Given the description of an element on the screen output the (x, y) to click on. 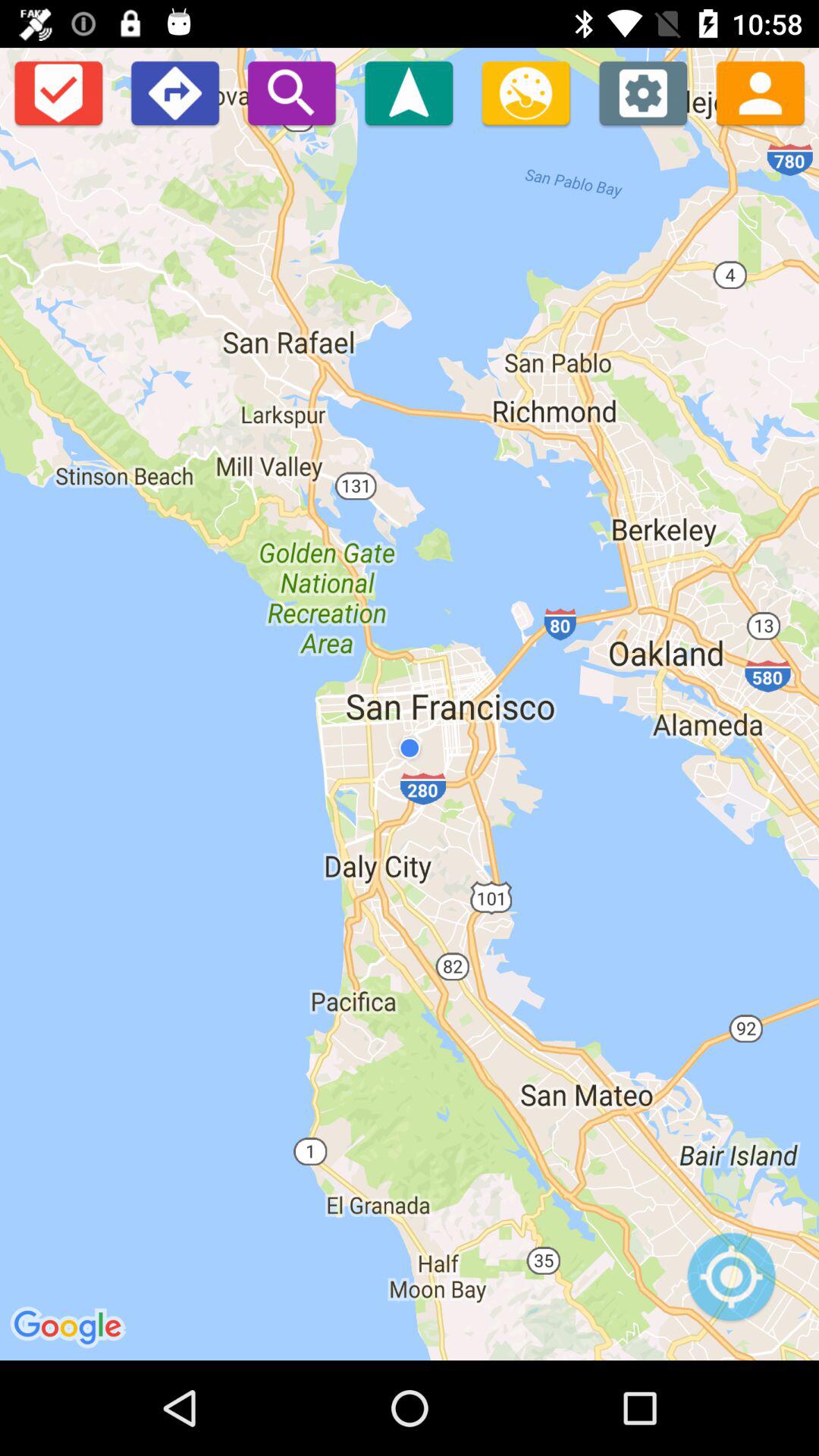
go to profile (760, 92)
